Given the description of an element on the screen output the (x, y) to click on. 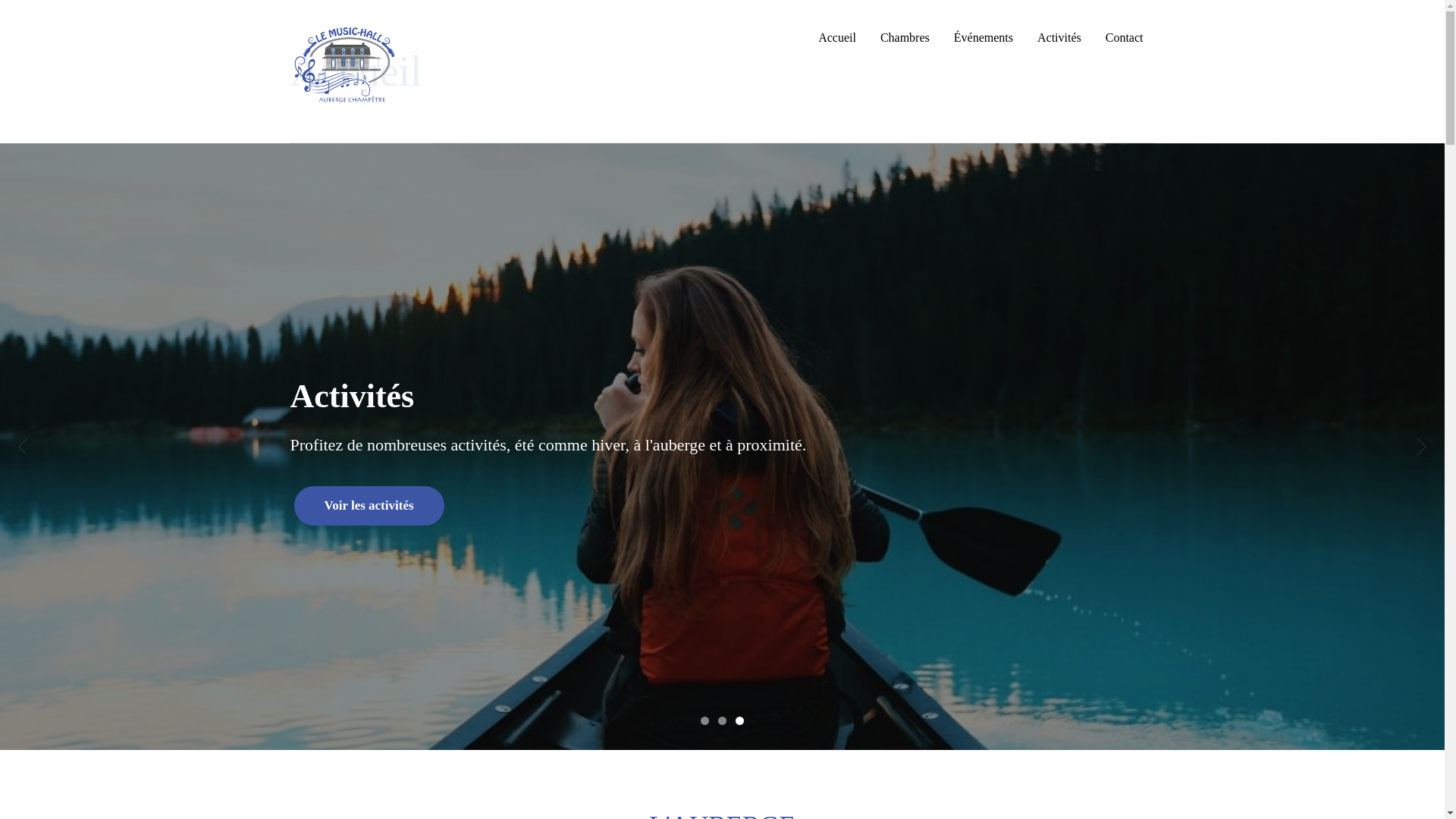
2 Element type: text (722, 720)
Chambres Element type: text (904, 37)
Accueil Element type: text (837, 37)
1 Element type: text (704, 720)
Contact Element type: text (1124, 37)
3 Element type: text (739, 720)
